Given the description of an element on the screen output the (x, y) to click on. 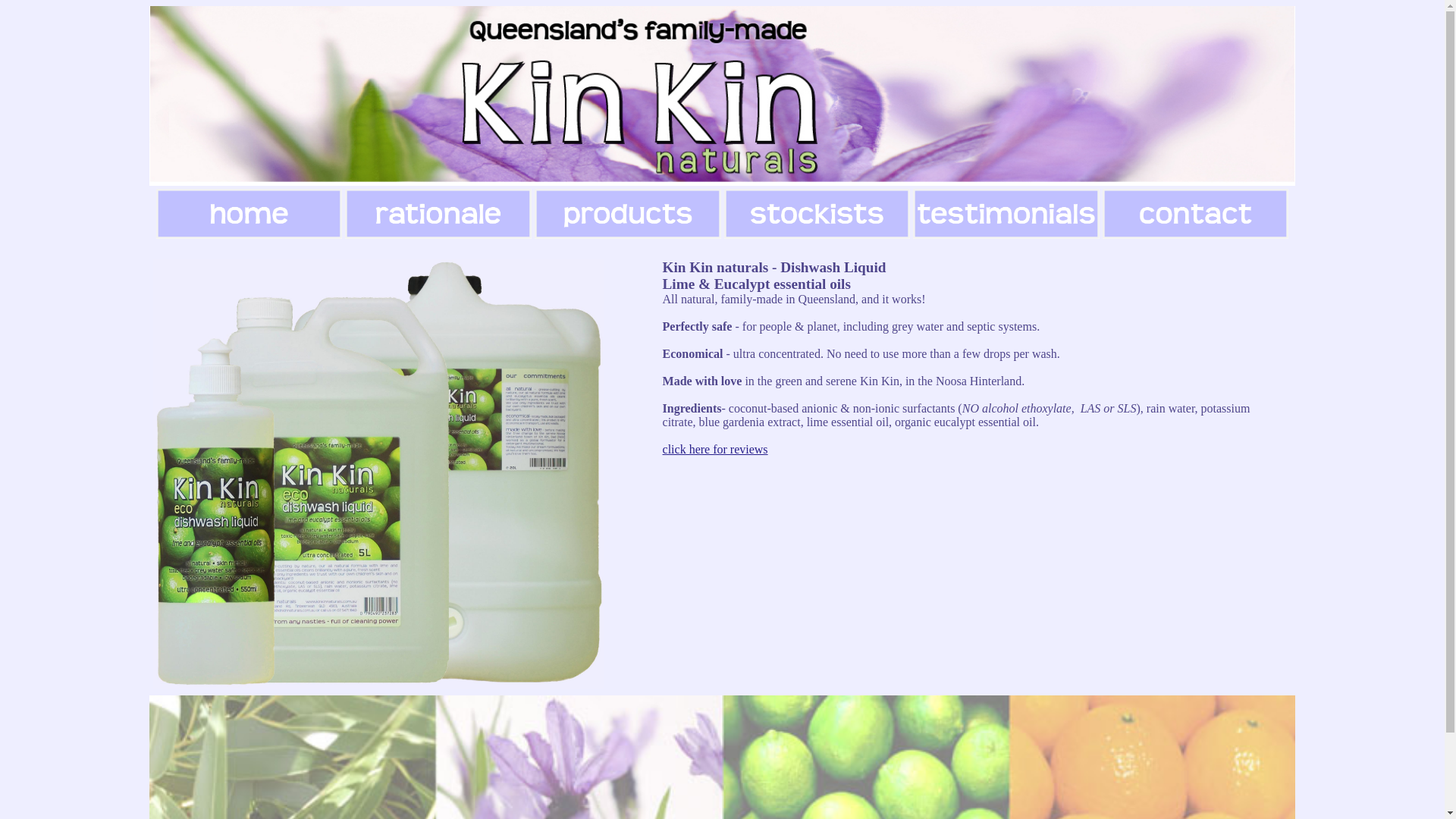
Dishwash liquid - Lime & Eucalypt Element type: hover (378, 473)
click here for reviews Element type: text (715, 448)
logo - Kin Kin naturals Element type: hover (722, 95)
